Given the description of an element on the screen output the (x, y) to click on. 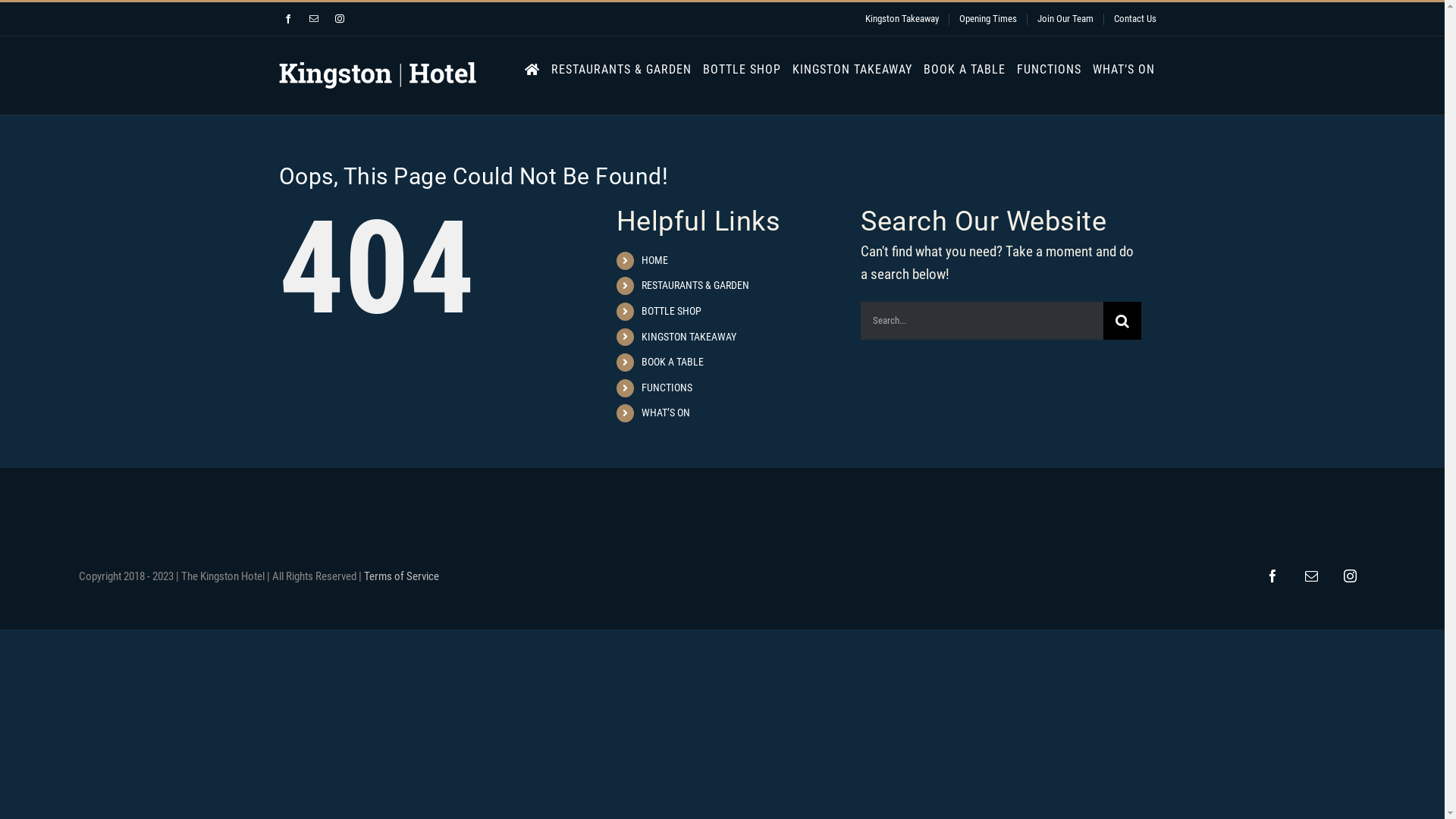
HOME Element type: text (654, 260)
Terms of Service Element type: text (401, 576)
Facebook Element type: text (1272, 575)
Email Element type: text (313, 18)
Kingston Takeaway Element type: text (901, 19)
RESTAURANTS & GARDEN Element type: text (620, 68)
RESTAURANTS & GARDEN Element type: text (695, 285)
Contact Us Element type: text (1135, 19)
Instagram Element type: text (339, 18)
Instagram Element type: text (1349, 575)
Opening Times Element type: text (987, 19)
FUNCTIONS Element type: text (666, 387)
Join Our Team Element type: text (1064, 19)
BOOK A TABLE Element type: text (672, 361)
BOTTLE SHOP Element type: text (671, 310)
BOOK A TABLE Element type: text (964, 68)
KINGSTON TAKEAWAY Element type: text (688, 336)
Facebook Element type: text (288, 18)
BOTTLE SHOP Element type: text (741, 68)
KINGSTON TAKEAWAY Element type: text (851, 68)
Email Element type: text (1311, 575)
FUNCTIONS Element type: text (1048, 68)
